Given the description of an element on the screen output the (x, y) to click on. 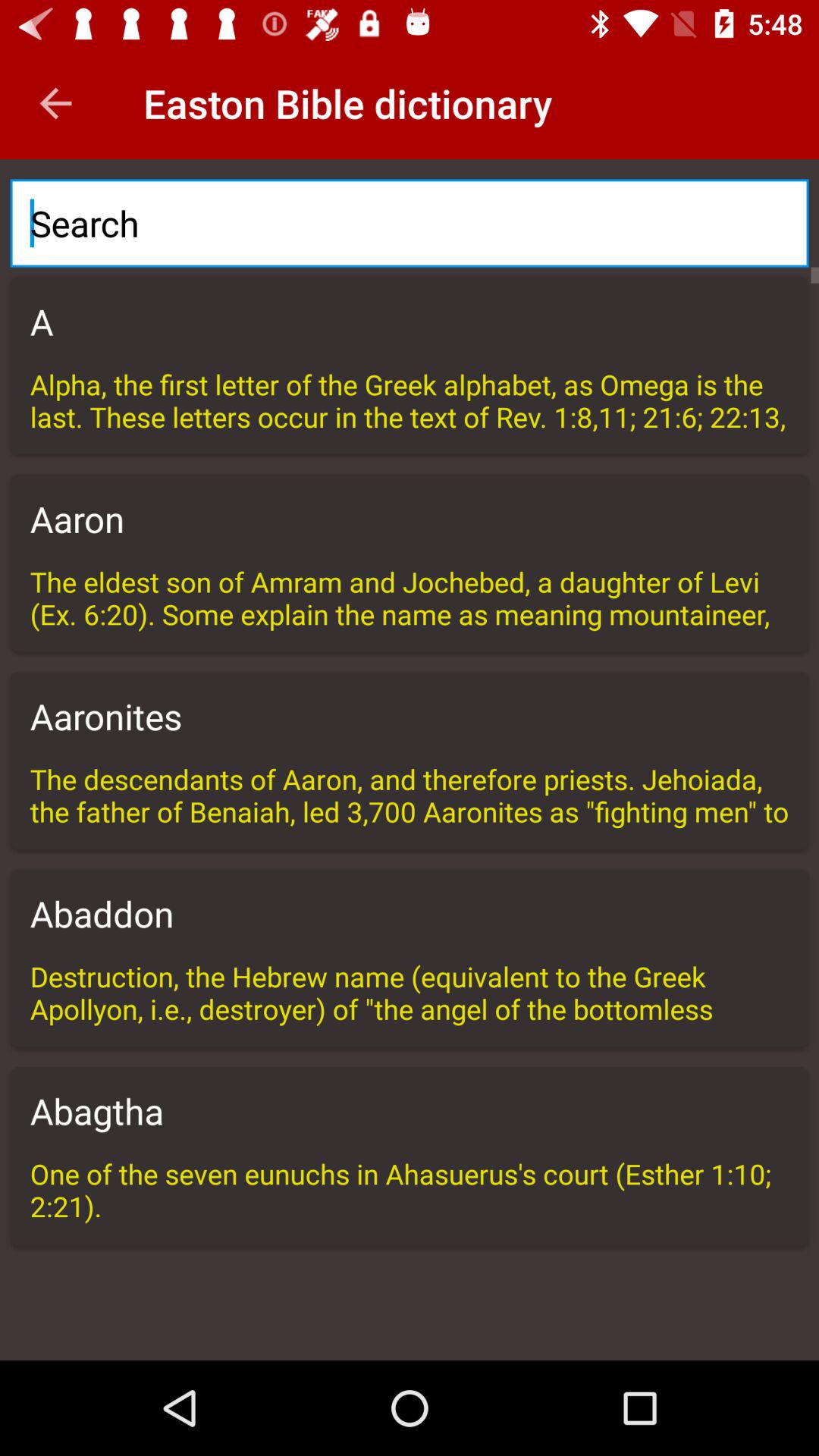
input search (409, 223)
